Given the description of an element on the screen output the (x, y) to click on. 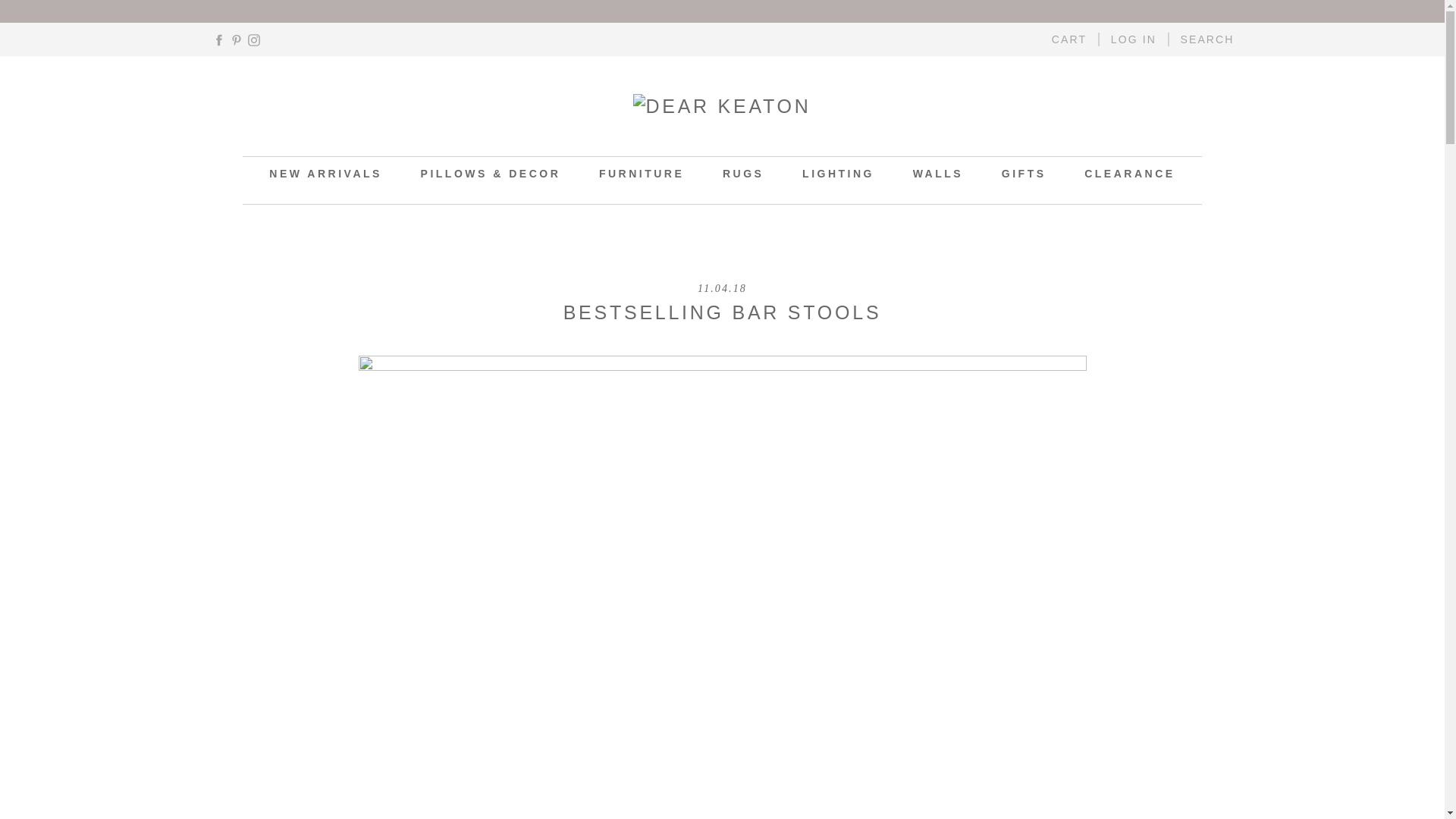
Dear Keaton on Pinterest (236, 38)
Dear Keaton on Instagram (253, 38)
Dear Keaton on Facebook (218, 38)
